Given the description of an element on the screen output the (x, y) to click on. 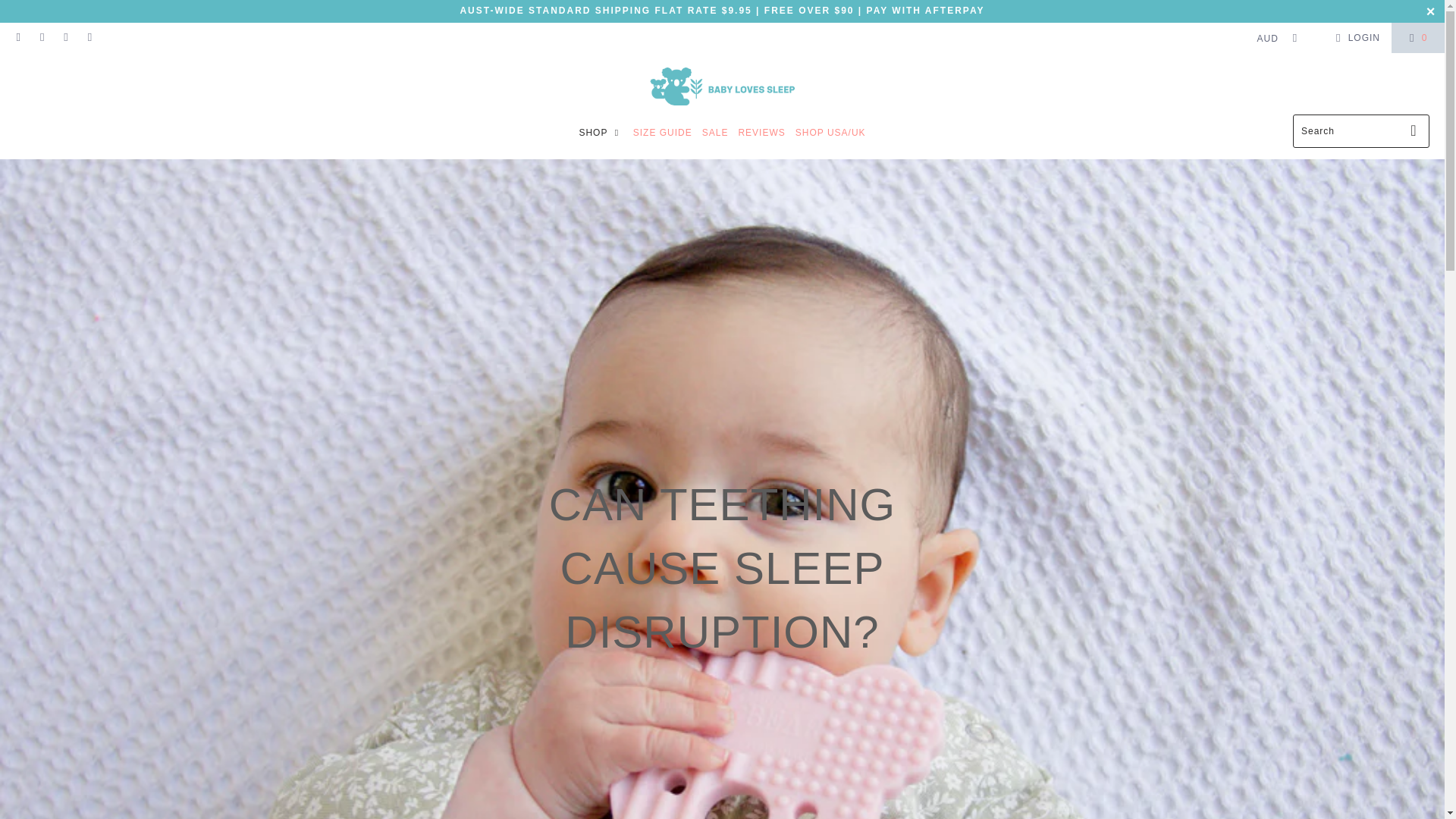
Email BABY LOVES SLEEP (17, 37)
BABY LOVES SLEEP on Facebook (41, 37)
BABY LOVES SLEEP (722, 87)
BABY LOVES SLEEP on Instagram (65, 37)
My Account  (1355, 37)
BABY LOVES SLEEP on YouTube (89, 37)
